Given the description of an element on the screen output the (x, y) to click on. 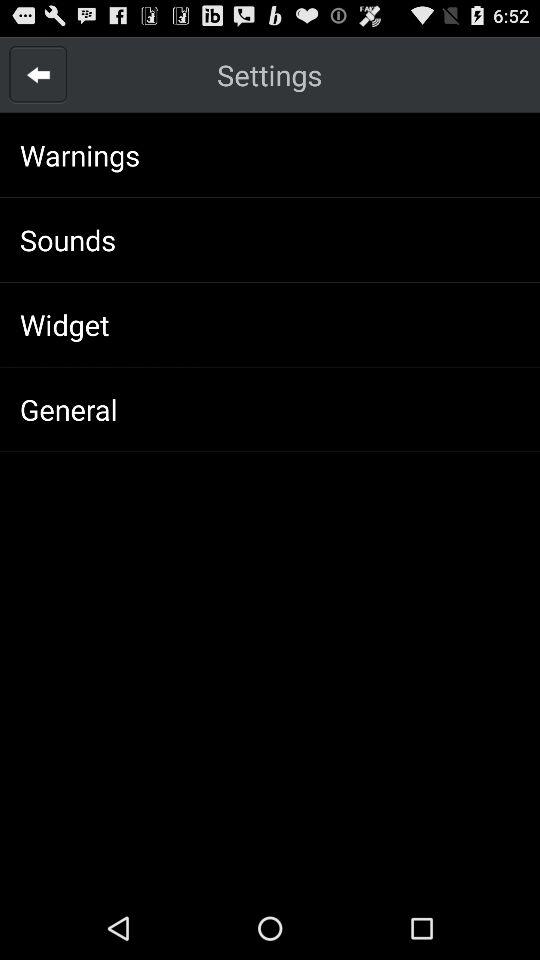
click the item below sounds (64, 324)
